Given the description of an element on the screen output the (x, y) to click on. 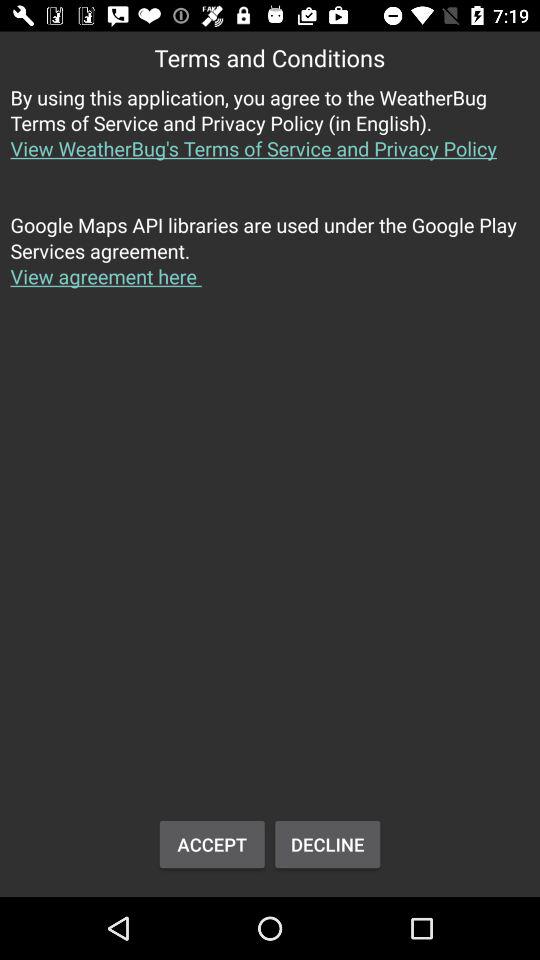
launch item next to decline (212, 844)
